Given the description of an element on the screen output the (x, y) to click on. 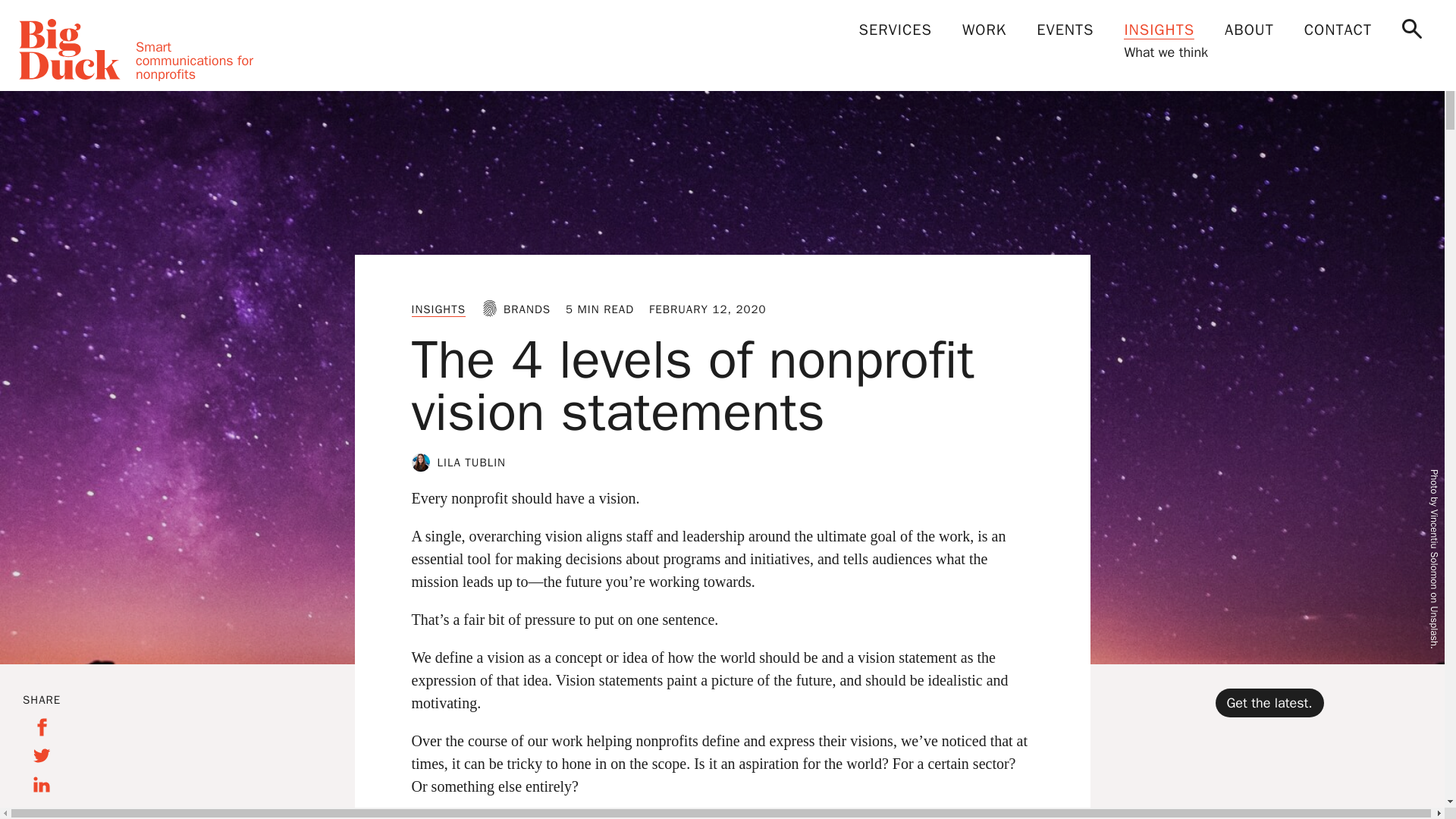
INSIGHTS (437, 309)
ABOUT (1248, 30)
WORK (984, 30)
EVENTS (1065, 30)
INSIGHTS (1158, 30)
LILA TUBLIN (470, 462)
Smart communications for nonprofits (145, 49)
SERVICES (895, 30)
CONTACT (1337, 30)
